Given the description of an element on the screen output the (x, y) to click on. 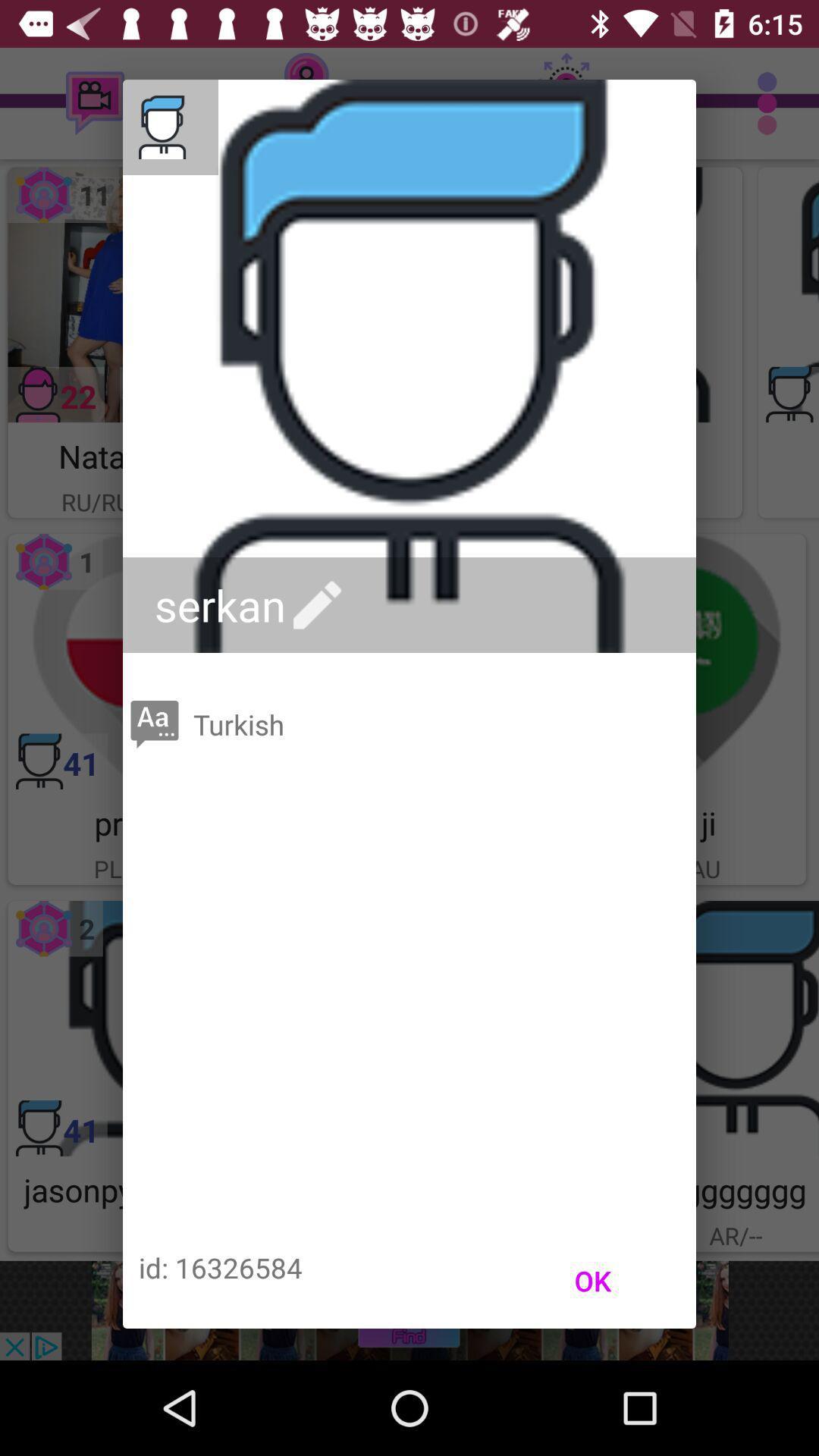
flip to the serkan (251, 605)
